Given the description of an element on the screen output the (x, y) to click on. 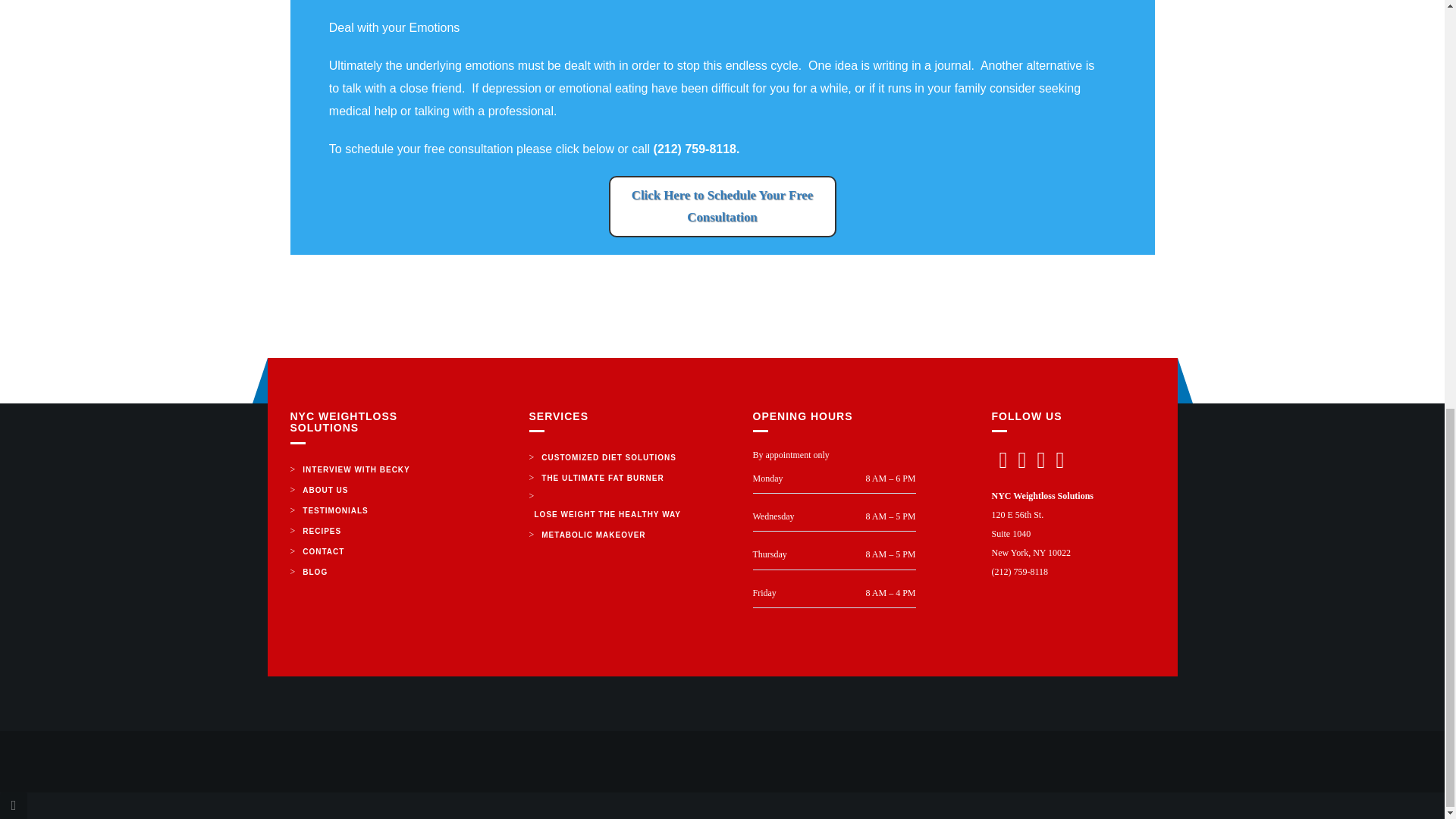
BLOG (315, 571)
RECIPES (321, 530)
TESTIMONIALS (334, 510)
ABOUT US (325, 489)
LOSE WEIGHT THE HEALTHY WAY (608, 514)
Click Here to Schedule Your Free Consultation (721, 206)
CONTACT (323, 551)
CUSTOMIZED DIET SOLUTIONS (608, 457)
METABOLIC MAKEOVER (592, 534)
INTERVIEW WITH BECKY (355, 469)
THE ULTIMATE FAT BURNER (601, 477)
